Given the description of an element on the screen output the (x, y) to click on. 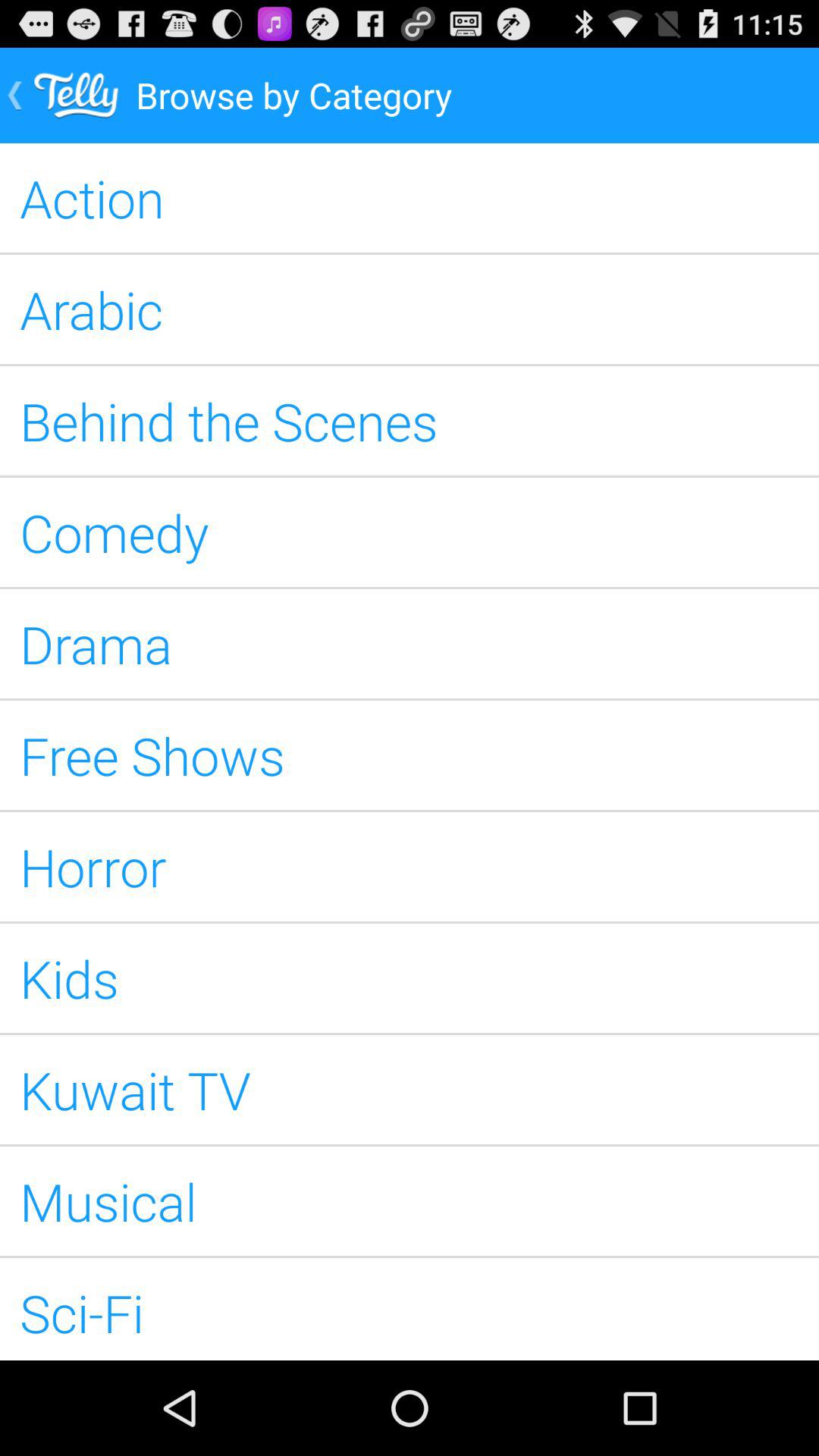
click the item below comedy item (409, 643)
